Given the description of an element on the screen output the (x, y) to click on. 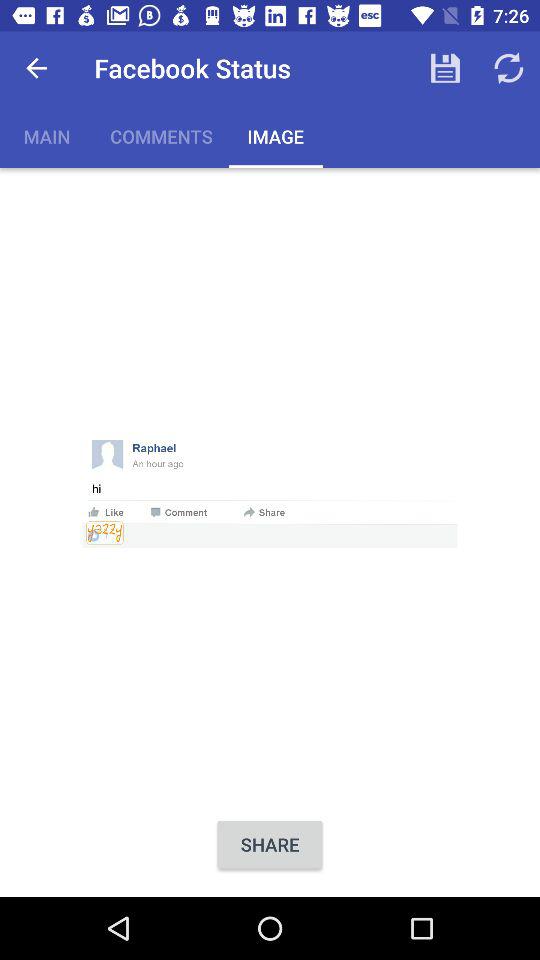
choose the icon above main (36, 68)
